Given the description of an element on the screen output the (x, y) to click on. 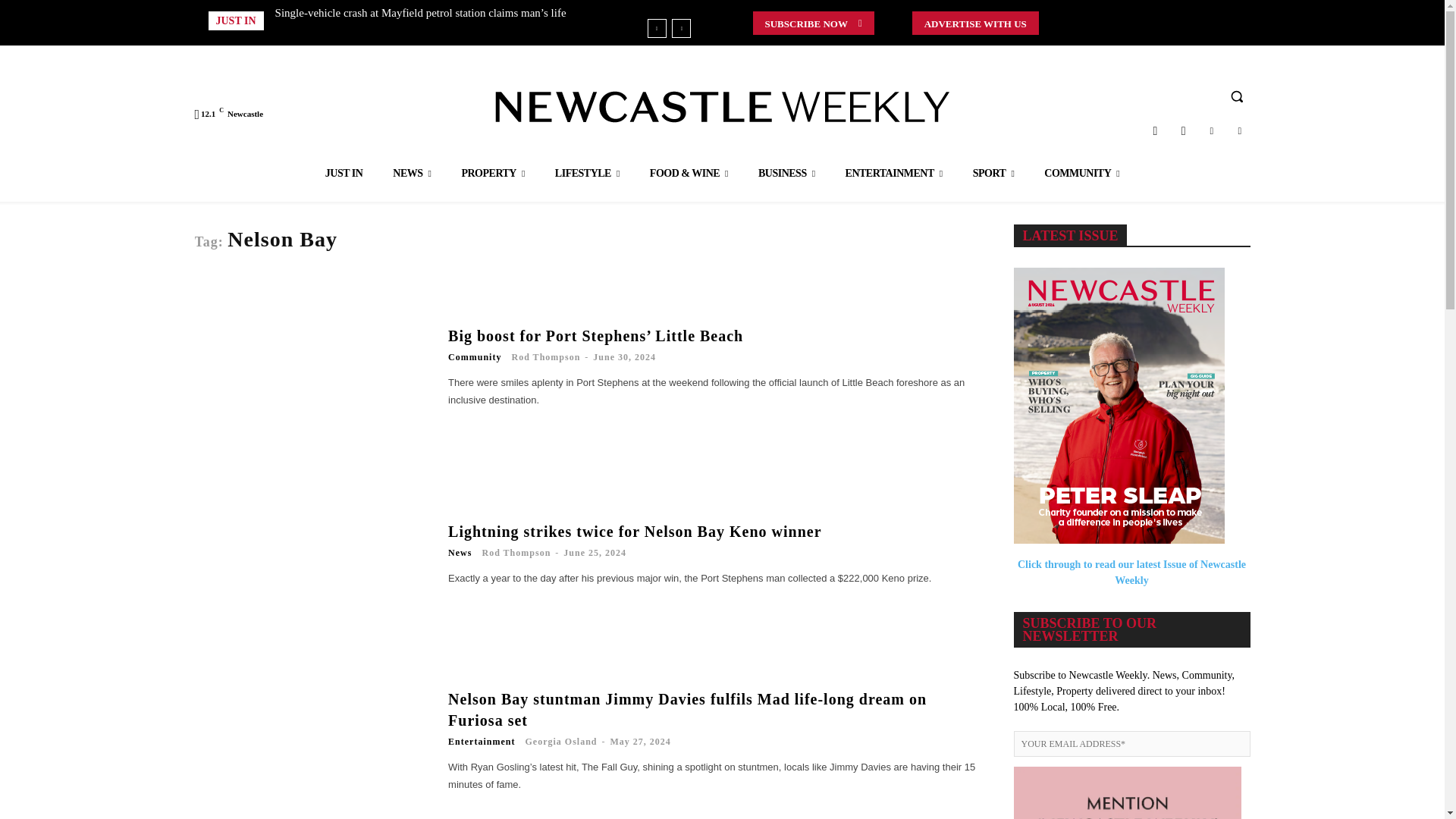
ADVERTISE WITH US (975, 22)
JUST IN (344, 173)
SUBSCRIBE NOW (812, 22)
Instagram (1155, 130)
Twitter (1211, 130)
Newscastle Weekly (722, 106)
Facebook (1183, 130)
